Given the description of an element on the screen output the (x, y) to click on. 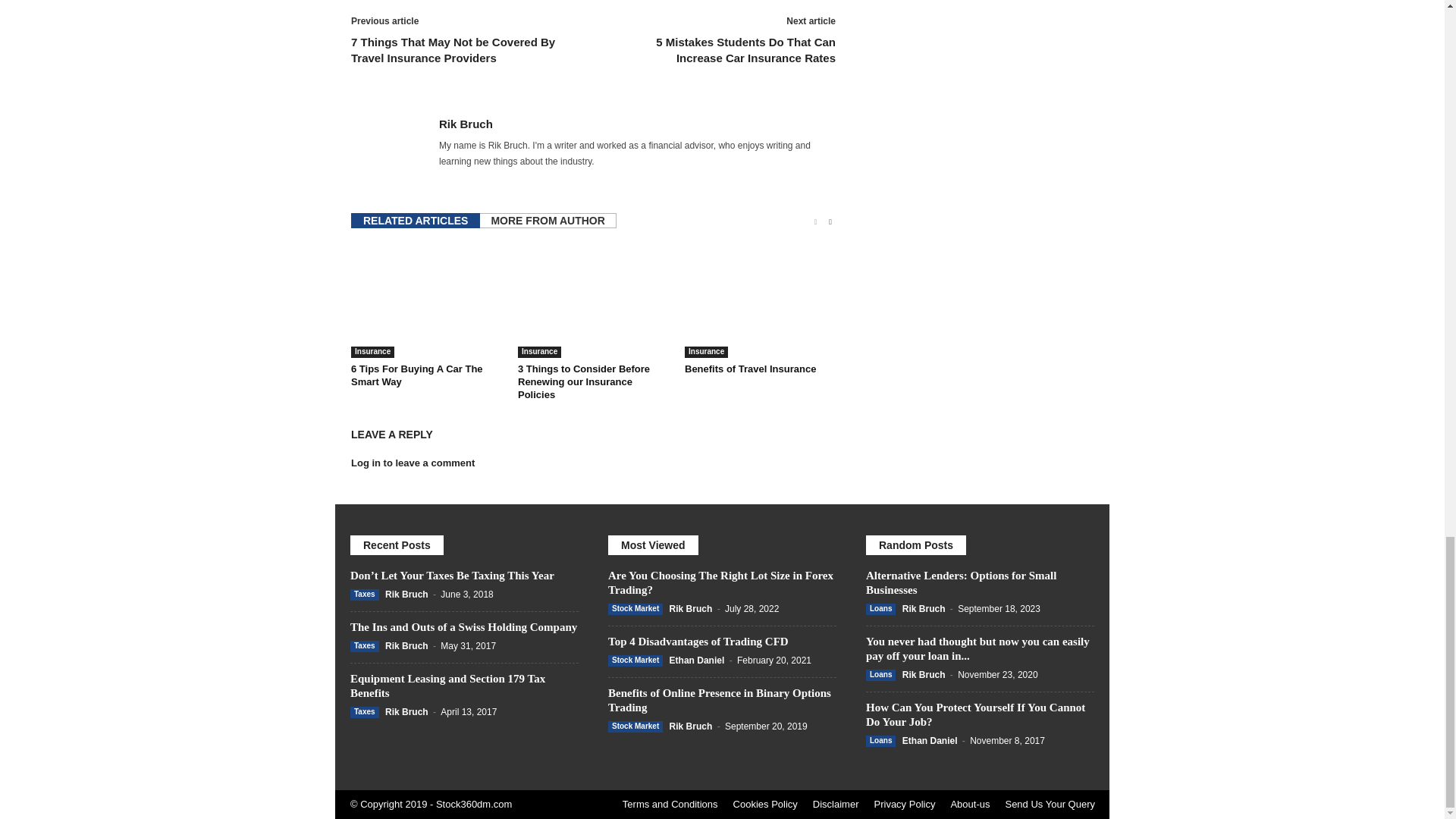
MORE FROM AUTHOR (547, 220)
Benefits of Travel Insurance (759, 300)
5 Mistakes Students Do That Can Increase Car Insurance Rates (721, 50)
RELATED ARTICLES (415, 220)
6 Tips For Buying A Car The Smart Way (426, 300)
3 Things to Consider Before Renewing our Insurance Policies (583, 381)
6 Tips For Buying A Car The Smart Way (416, 375)
Rik Bruch (466, 123)
3 Things to Consider Before Renewing our Insurance Policies (593, 300)
